Given the description of an element on the screen output the (x, y) to click on. 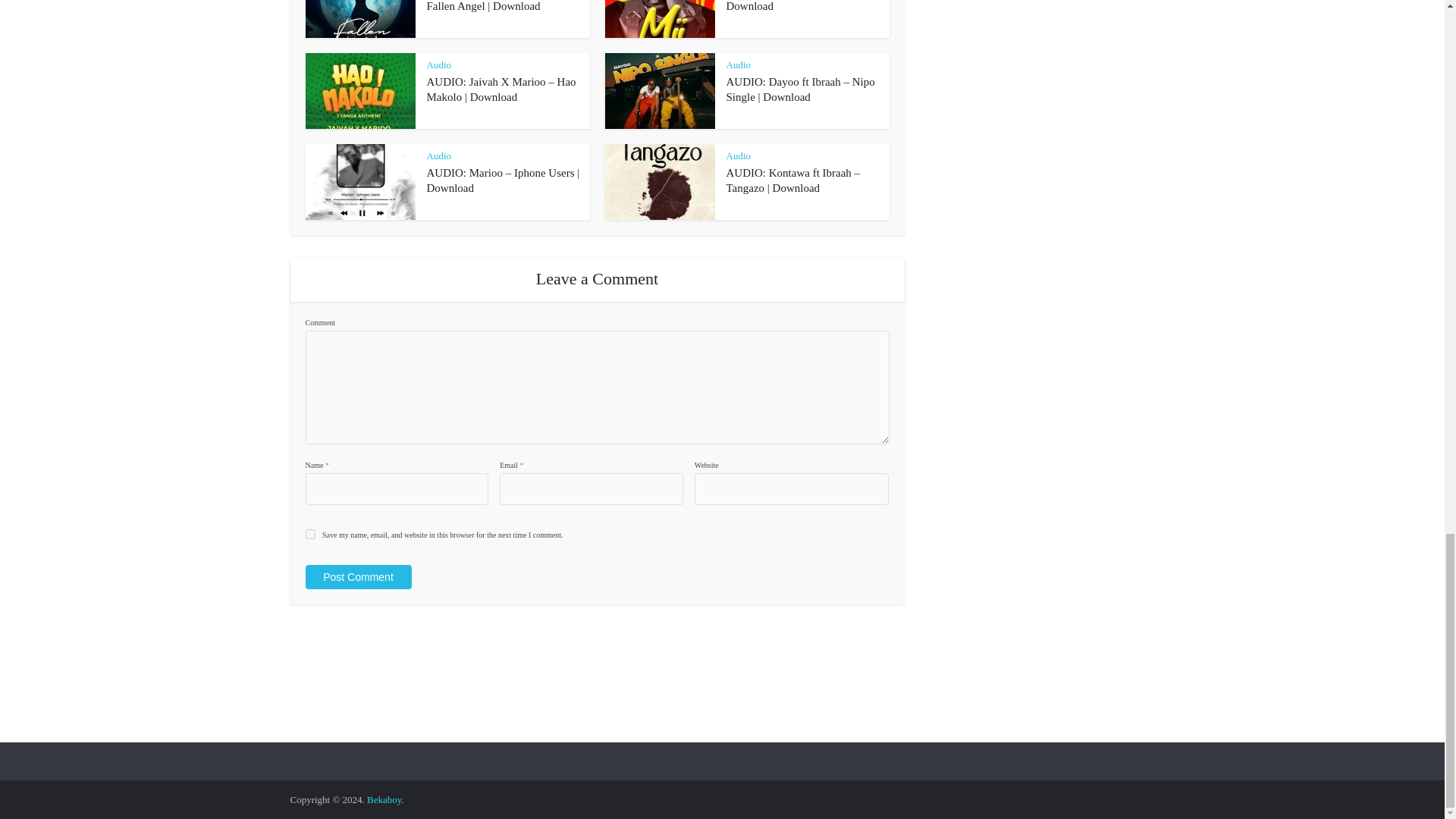
yes (309, 533)
Audio (438, 155)
Post Comment (357, 576)
Audio (738, 64)
Audio (738, 155)
Audio (438, 64)
Post Comment (357, 576)
